Given the description of an element on the screen output the (x, y) to click on. 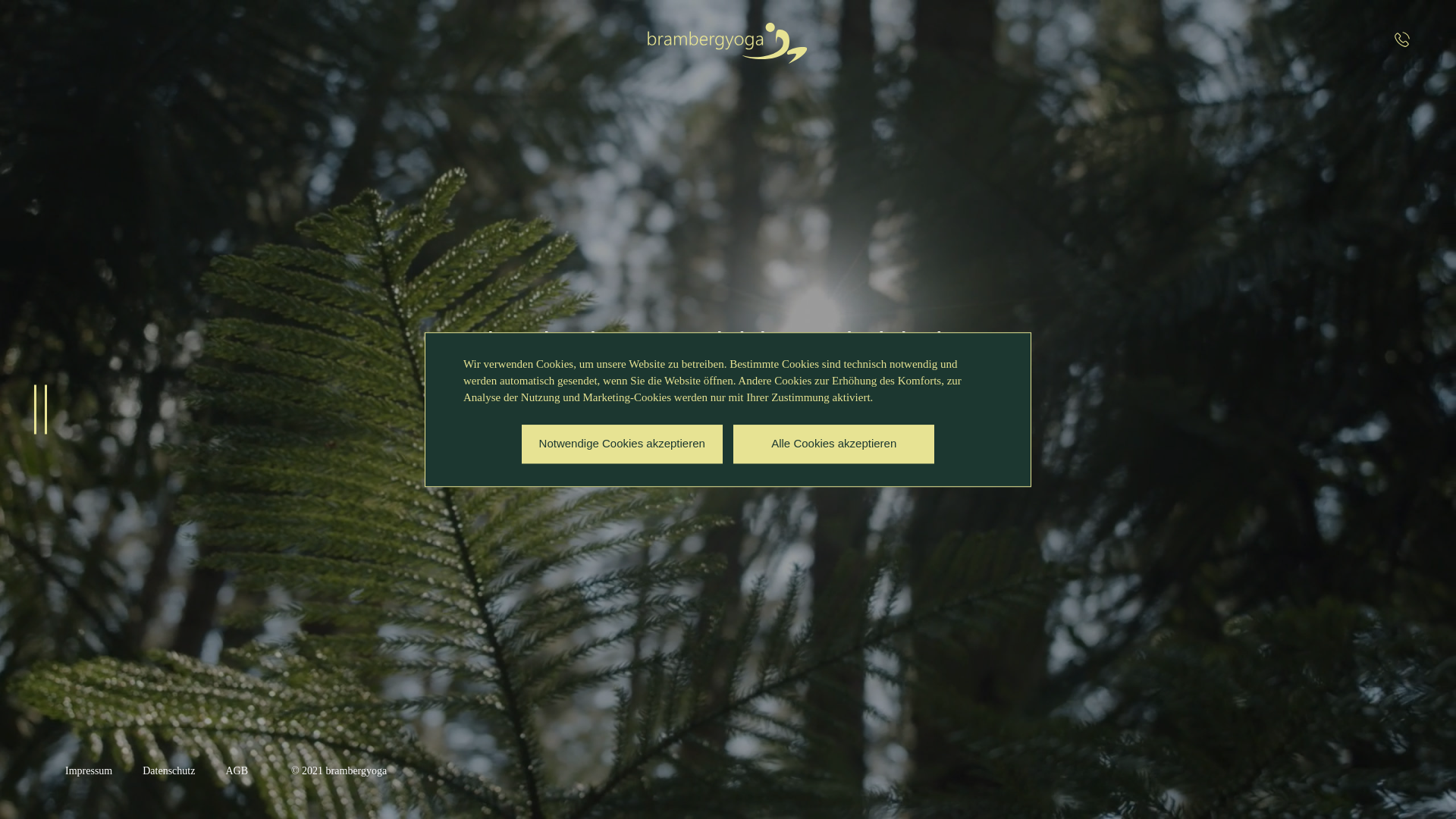
brambergyoga.ch Element type: hover (727, 42)
Alle Cookies akzeptieren Element type: text (833, 443)
AGB Element type: text (236, 770)
Datenschutz Element type: text (168, 770)
Notwendige Cookies akzeptieren Element type: text (621, 443)
Impressum Element type: text (88, 770)
Open sidebar Element type: hover (41, 409)
